Given the description of an element on the screen output the (x, y) to click on. 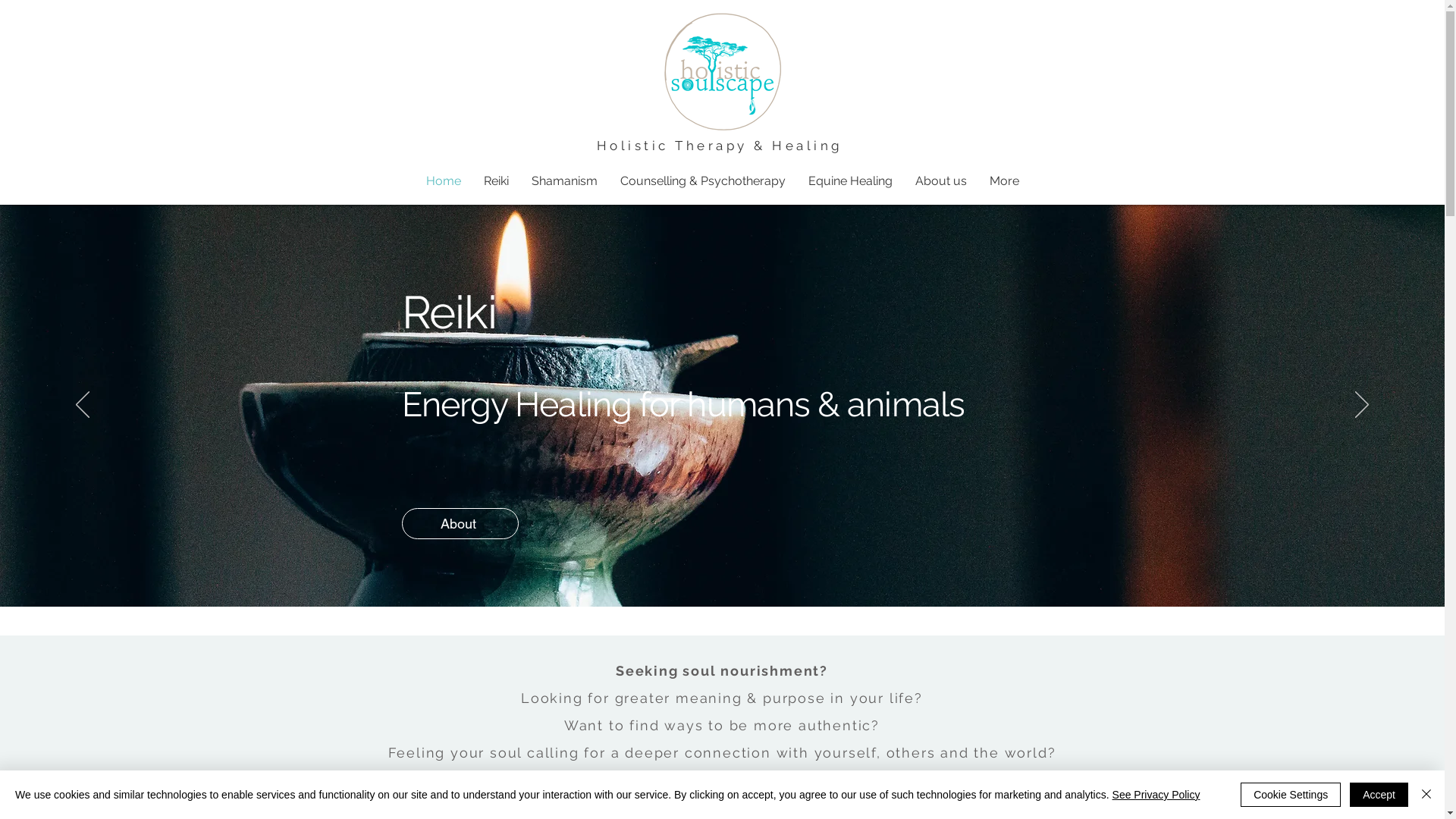
Equine Healing Element type: text (849, 180)
Accept Element type: text (1378, 794)
See Privacy Policy Element type: text (1156, 794)
Home Element type: text (442, 180)
Reiki Element type: text (495, 180)
Cookie Settings Element type: text (1290, 794)
Counselling & Psychotherapy Element type: text (702, 180)
Shamanism Element type: text (564, 180)
About us Element type: text (940, 180)
About Element type: text (459, 523)
